Given the description of an element on the screen output the (x, y) to click on. 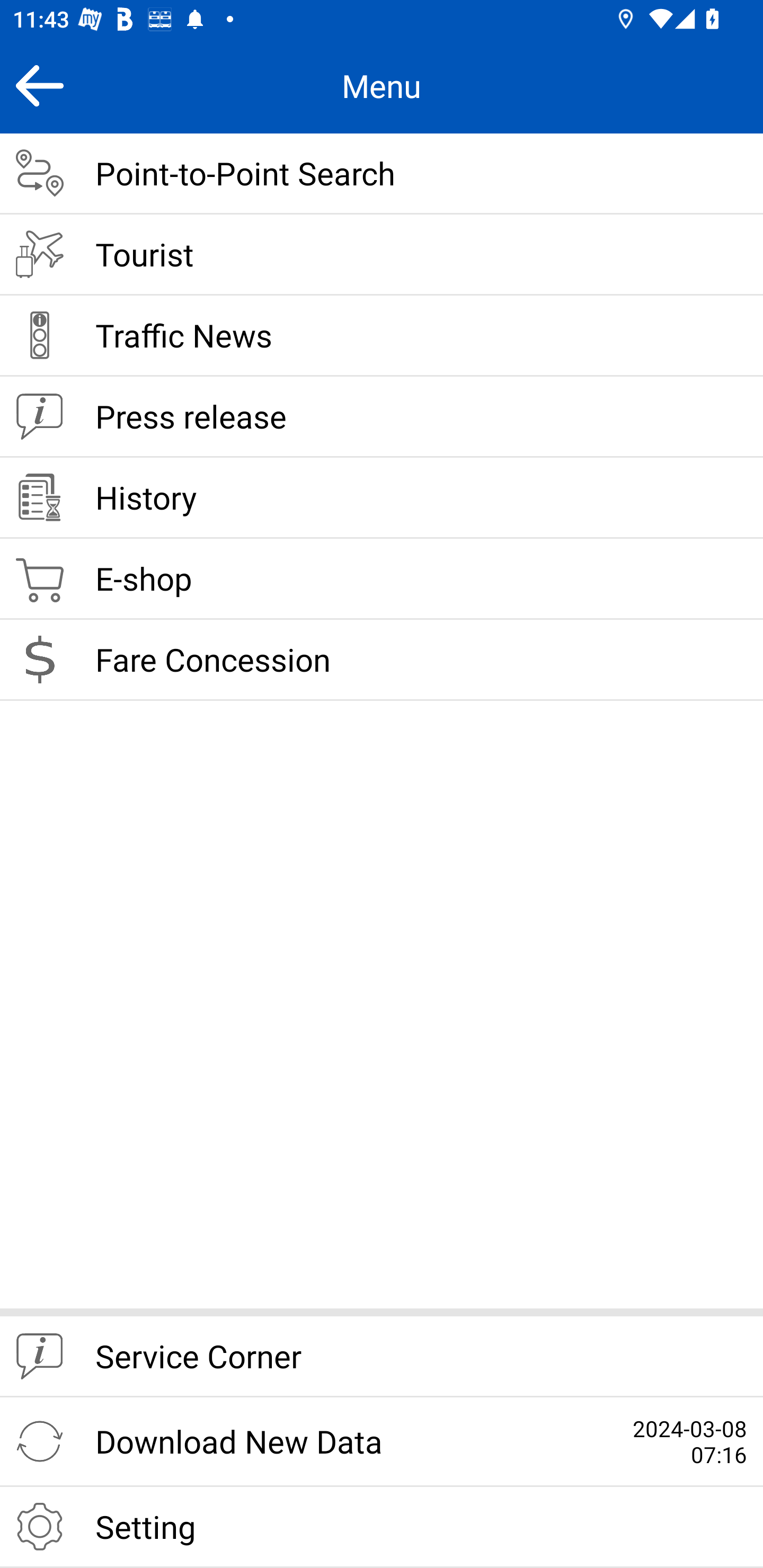
Back (39, 85)
Point-to-Point Search (381, 173)
Tourist (381, 255)
Traffic News (381, 336)
Press release (381, 416)
History (381, 498)
E-shop (381, 579)
Fare Concession (381, 659)
Service Corner (381, 1357)
Download New Data 2024-03-08
07:16 (381, 1441)
Setting (381, 1527)
